Given the description of an element on the screen output the (x, y) to click on. 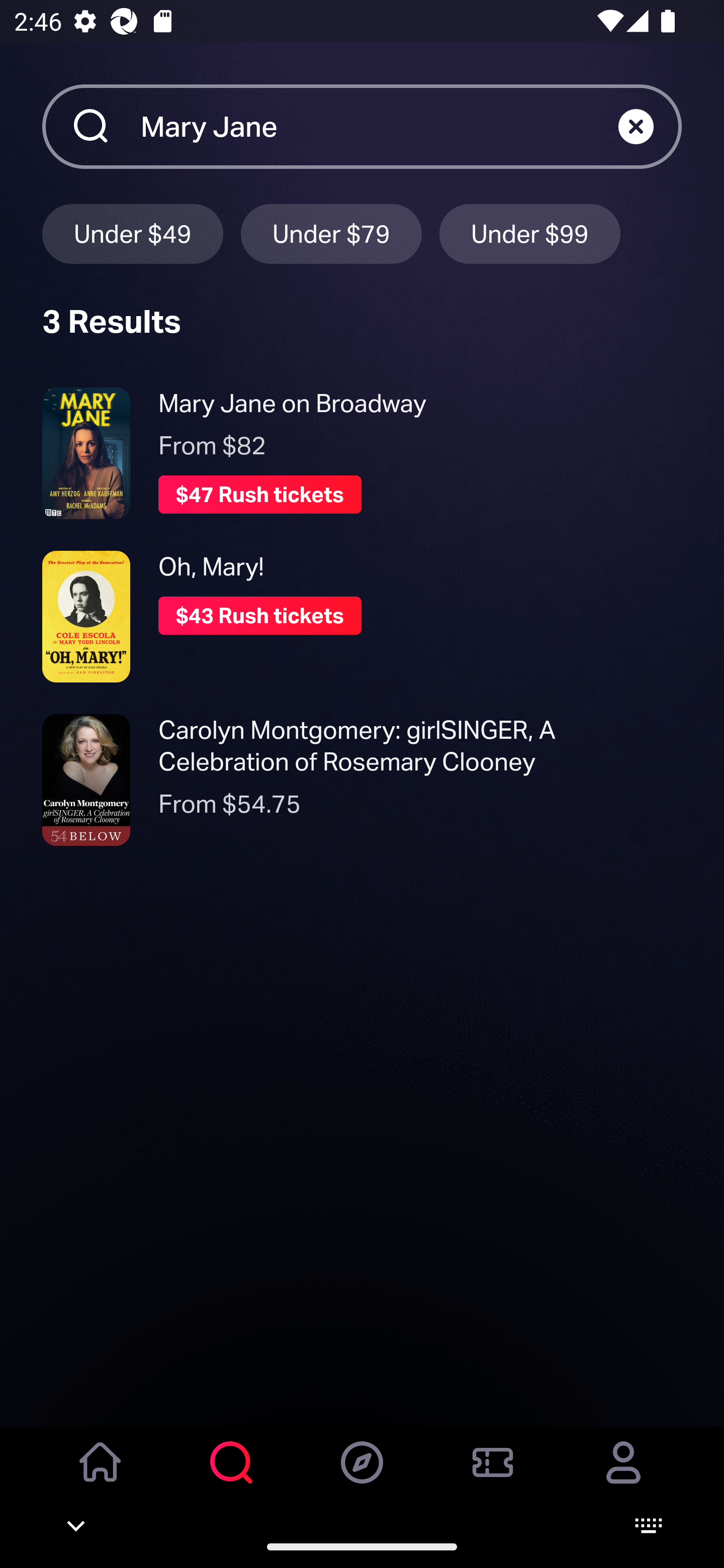
Mary Jane (379, 126)
Under $49 (131, 233)
Under $79 (331, 233)
Under $99 (529, 233)
Home (100, 1475)
Discover (361, 1475)
Orders (492, 1475)
Account (623, 1475)
